Given the description of an element on the screen output the (x, y) to click on. 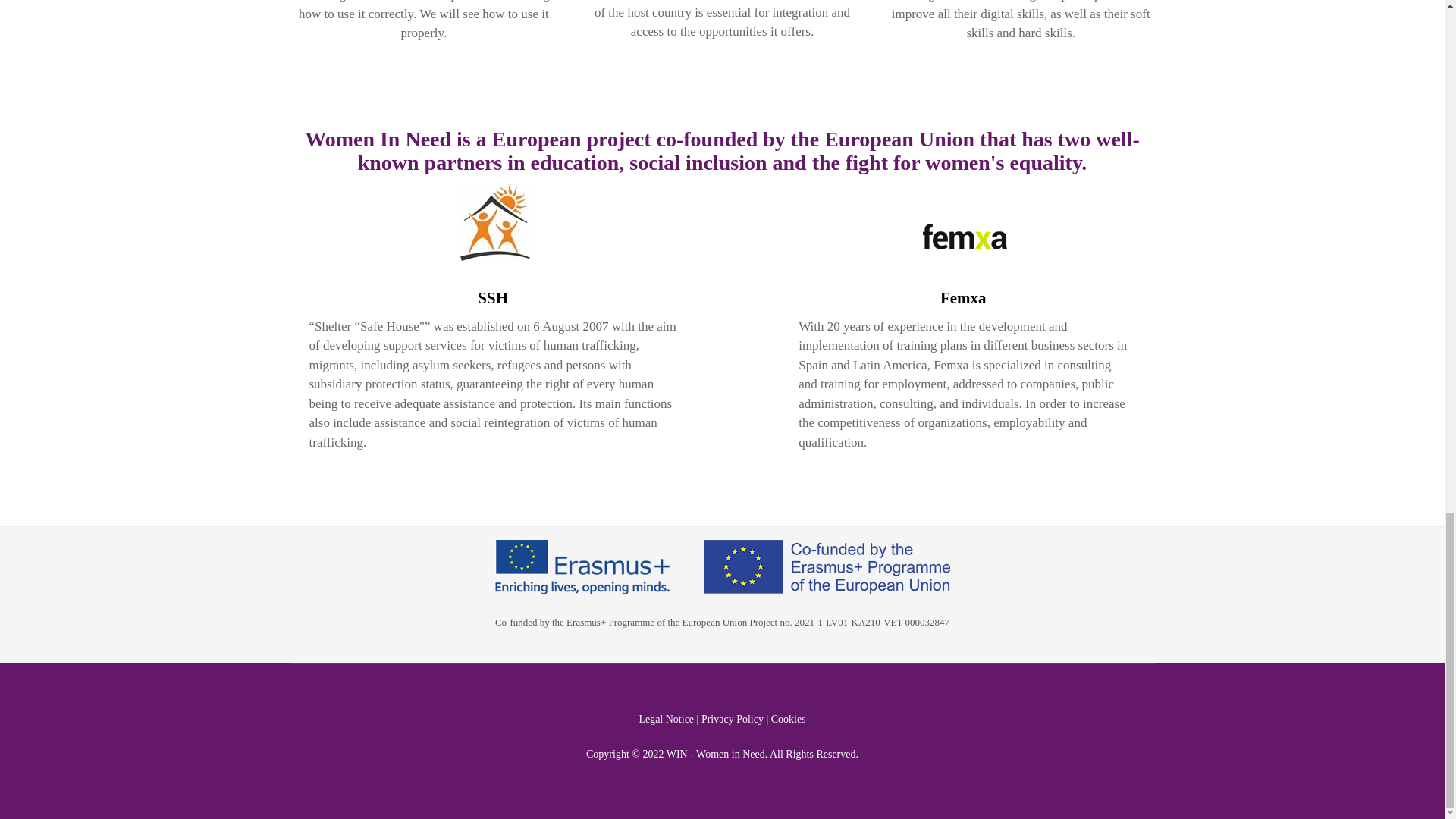
Cookies (788, 718)
Privacy Policy (731, 718)
Legal Notice (666, 718)
